Given the description of an element on the screen output the (x, y) to click on. 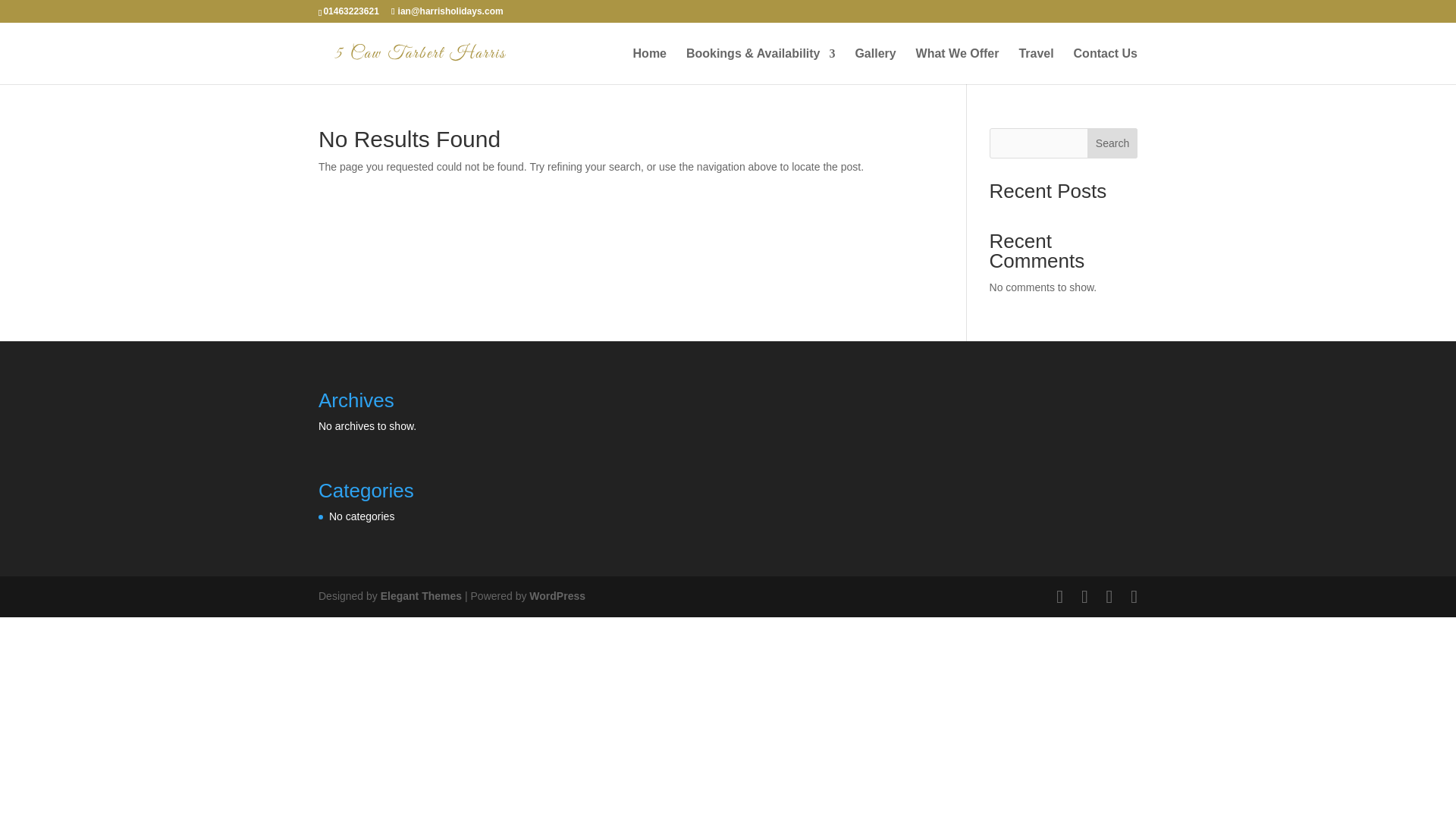
What We Offer (956, 66)
Search (1112, 142)
Elegant Themes (420, 595)
WordPress (557, 595)
Premium WordPress Themes (420, 595)
Contact Us (1105, 66)
Home (649, 66)
Gallery (874, 66)
Travel (1034, 66)
